Given the description of an element on the screen output the (x, y) to click on. 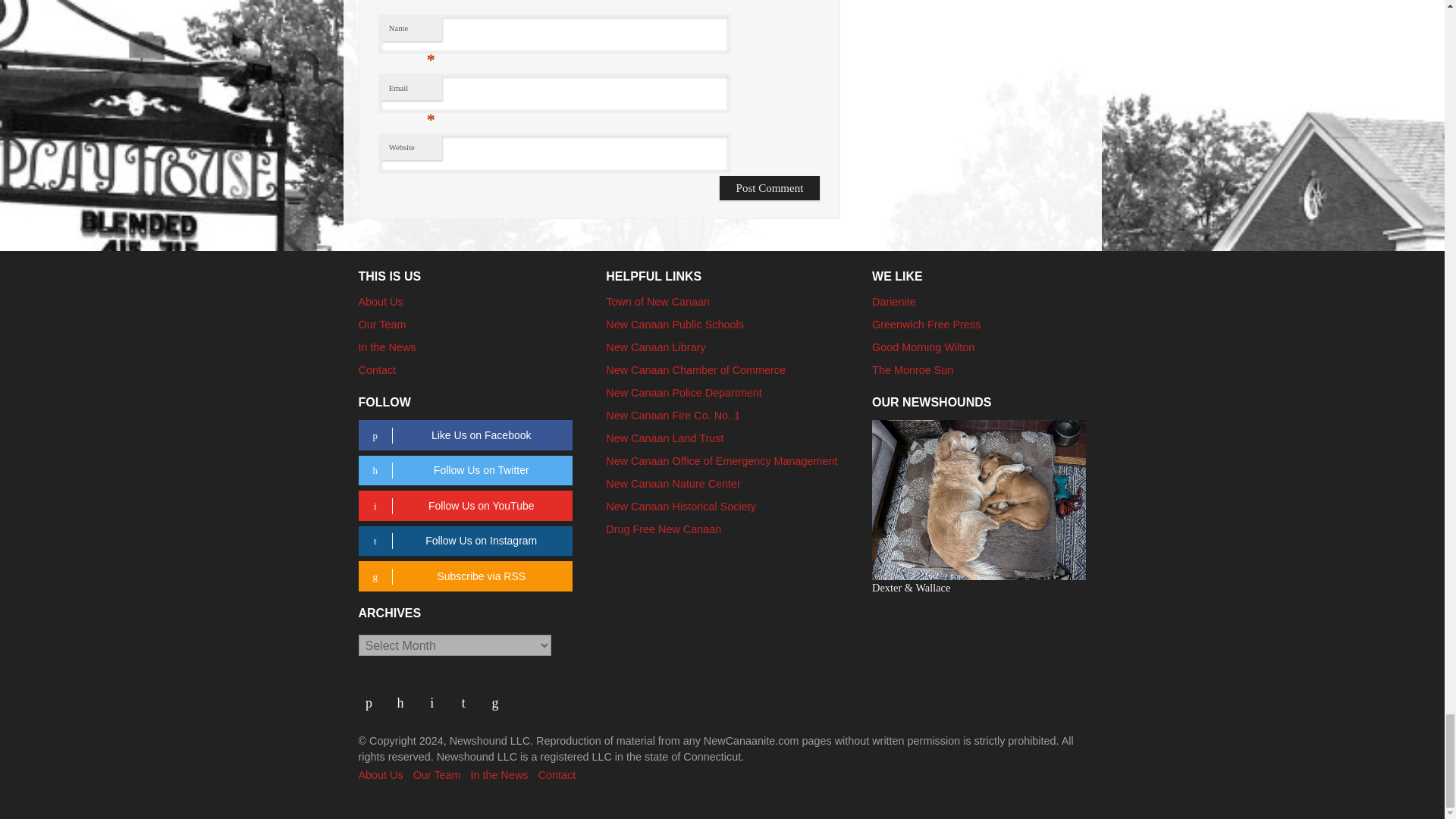
Post Comment (770, 188)
